Given the description of an element on the screen output the (x, y) to click on. 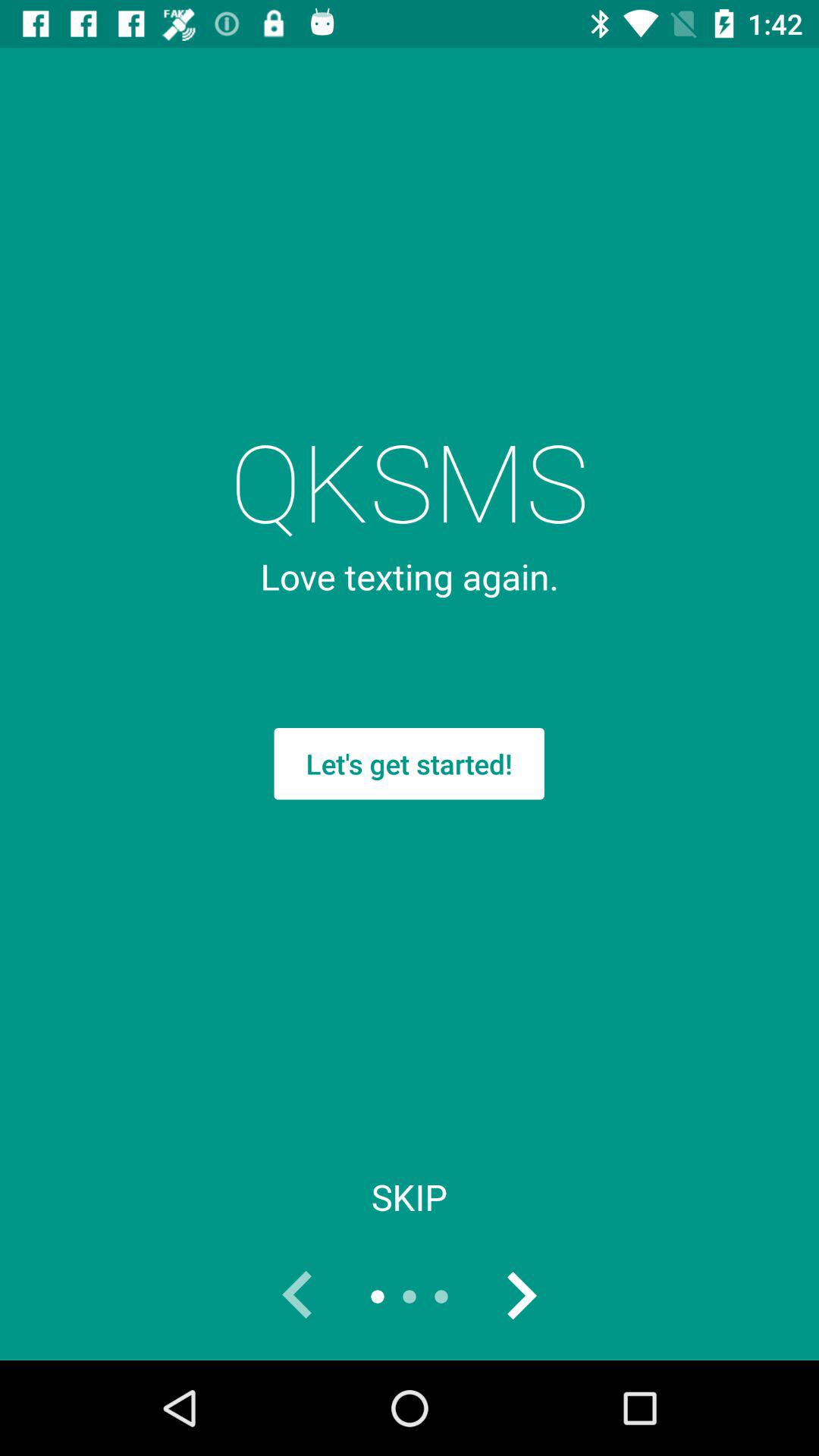
open the skip (409, 1197)
